Given the description of an element on the screen output the (x, y) to click on. 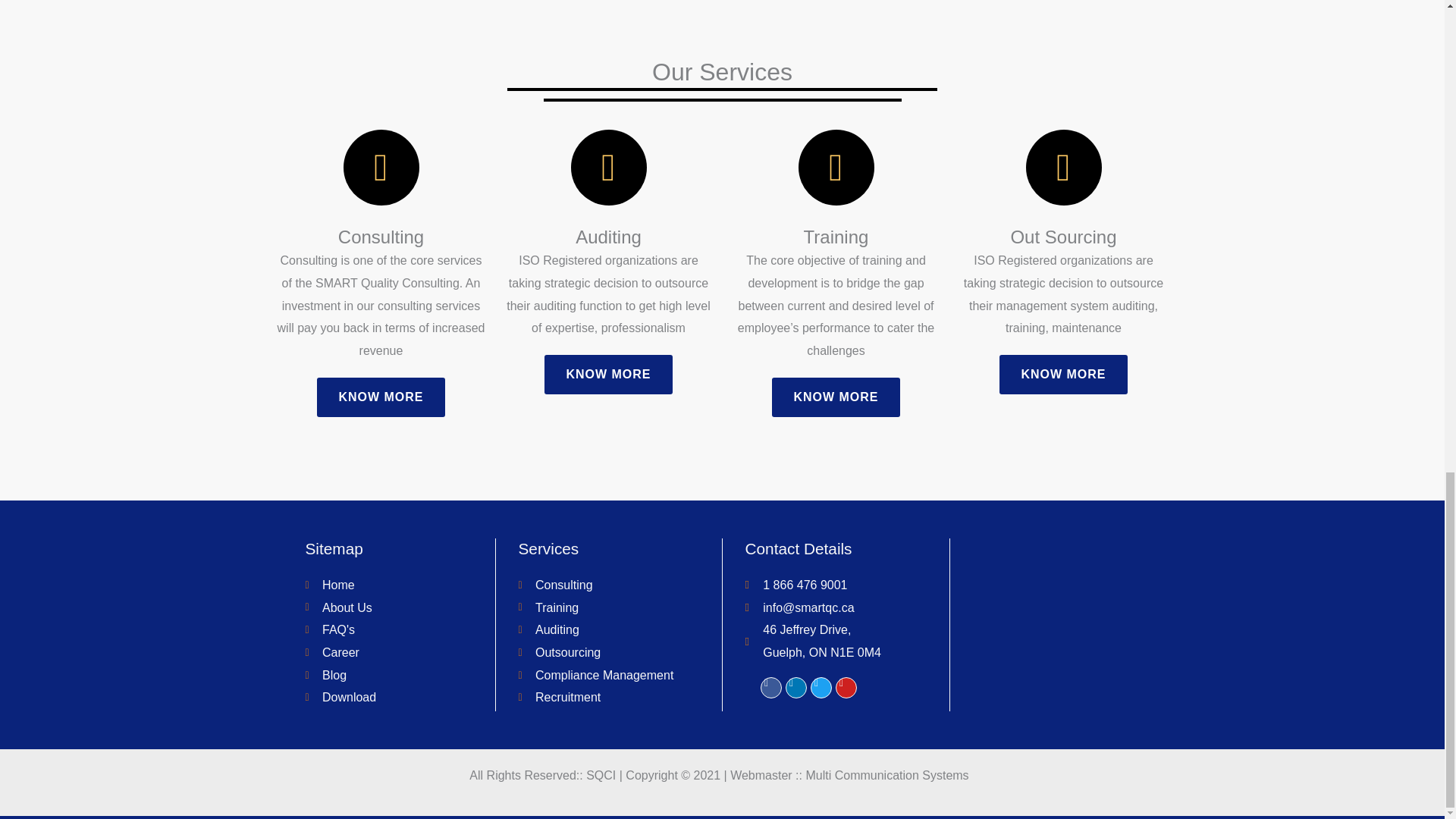
KNOW MORE (380, 396)
46 Jeffrey Drive, Guelph, ON N1E 0M4 (1066, 624)
KNOW MORE (607, 373)
